Given the description of an element on the screen output the (x, y) to click on. 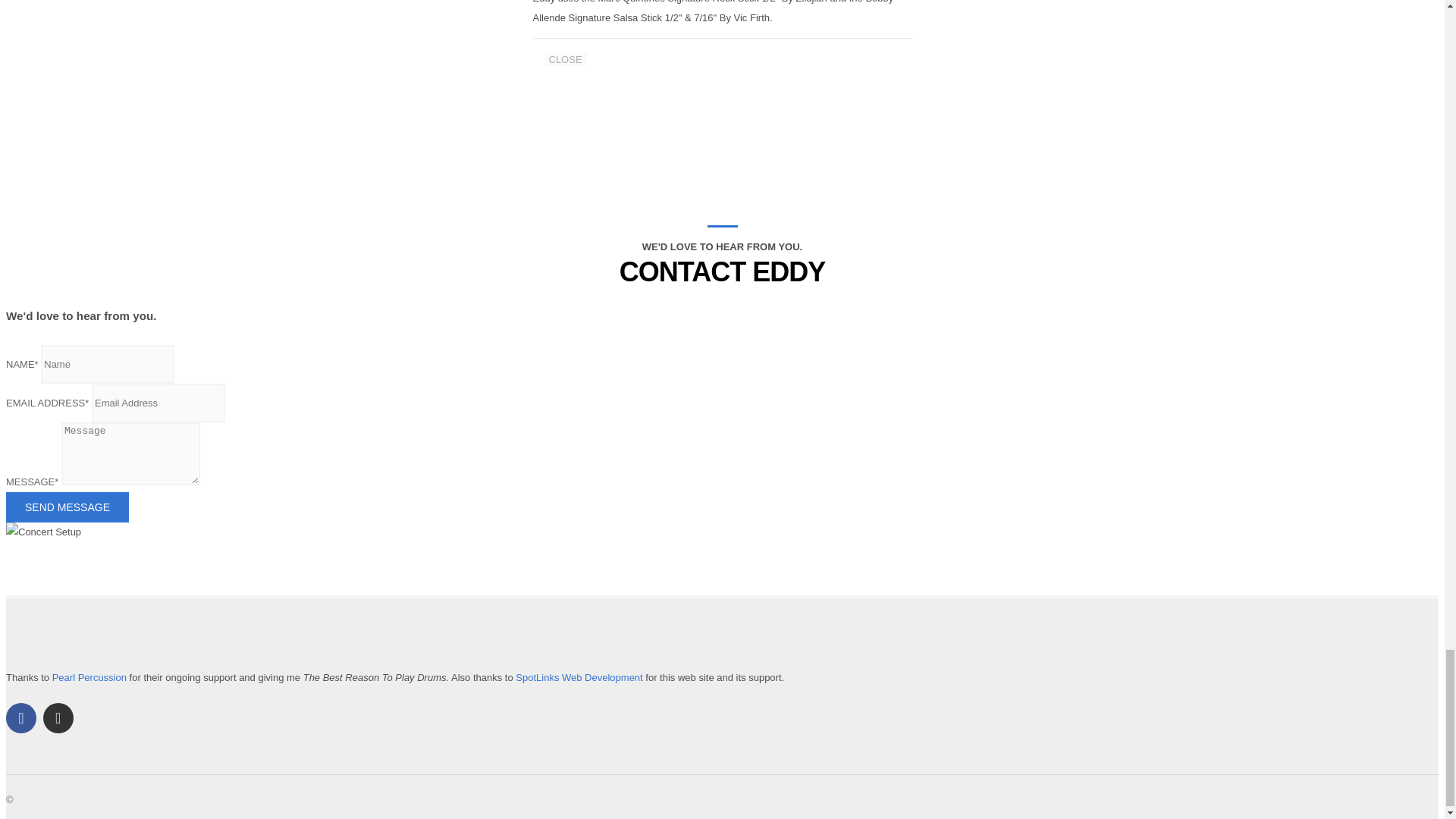
SpotLinks Web Development (578, 677)
SEND MESSAGE (67, 507)
Pearl Percussion (89, 677)
CLOSE (565, 59)
